Given the description of an element on the screen output the (x, y) to click on. 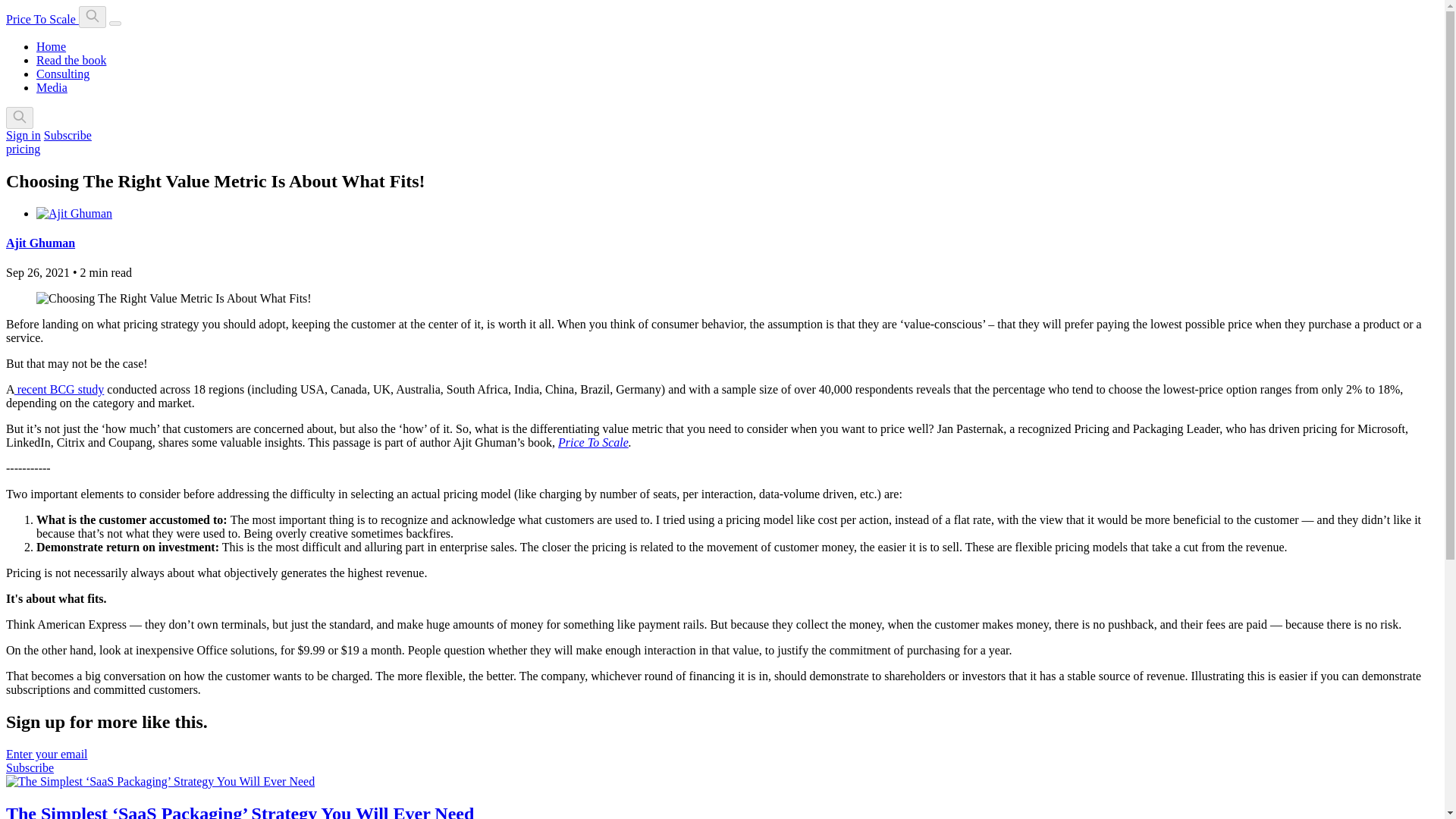
Price To Scale (592, 441)
pricing (22, 148)
Home (50, 46)
Ajit Ghuman (40, 242)
Consulting (62, 73)
Price To Scale (41, 19)
Subscribe (67, 134)
Media (51, 87)
Sign in (22, 134)
Read the book (71, 60)
